Given the description of an element on the screen output the (x, y) to click on. 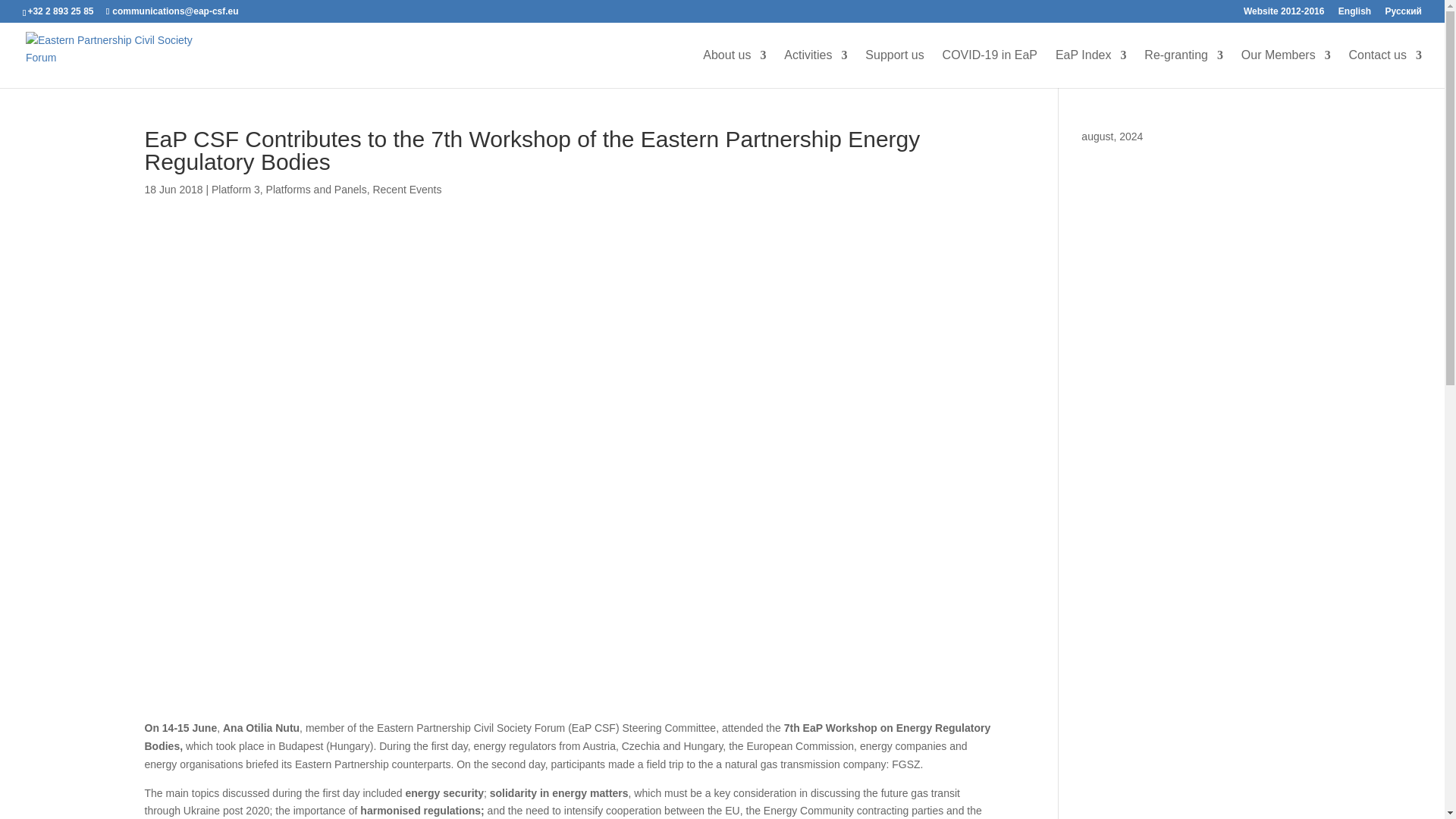
Contact us (1385, 68)
Our Members (1285, 68)
Support us (893, 68)
Re-granting (1183, 68)
EaP Index (1090, 68)
Website 2012-2016 (1283, 14)
COVID-19 in EaP (989, 68)
English (1354, 14)
Activities (815, 68)
Platform 3 (235, 189)
